Given the description of an element on the screen output the (x, y) to click on. 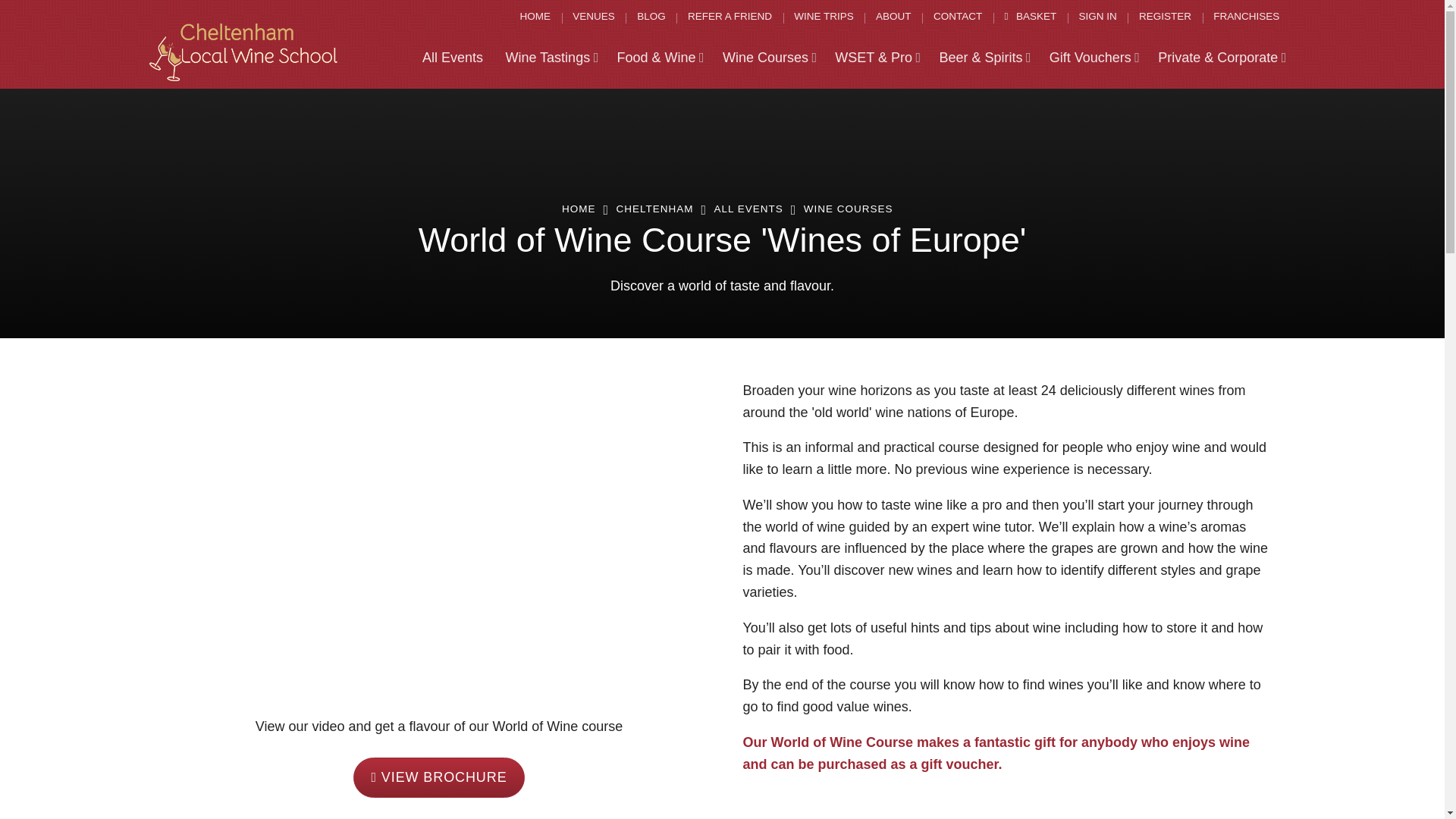
BASKET (1029, 17)
ABOUT (893, 17)
CONTACT (957, 17)
VENUES (593, 17)
Wine Tastings (551, 58)
WINE TRIPS (823, 17)
World of Wine course (438, 777)
BLOG (651, 17)
HOME (535, 17)
All Events (452, 58)
